Given the description of an element on the screen output the (x, y) to click on. 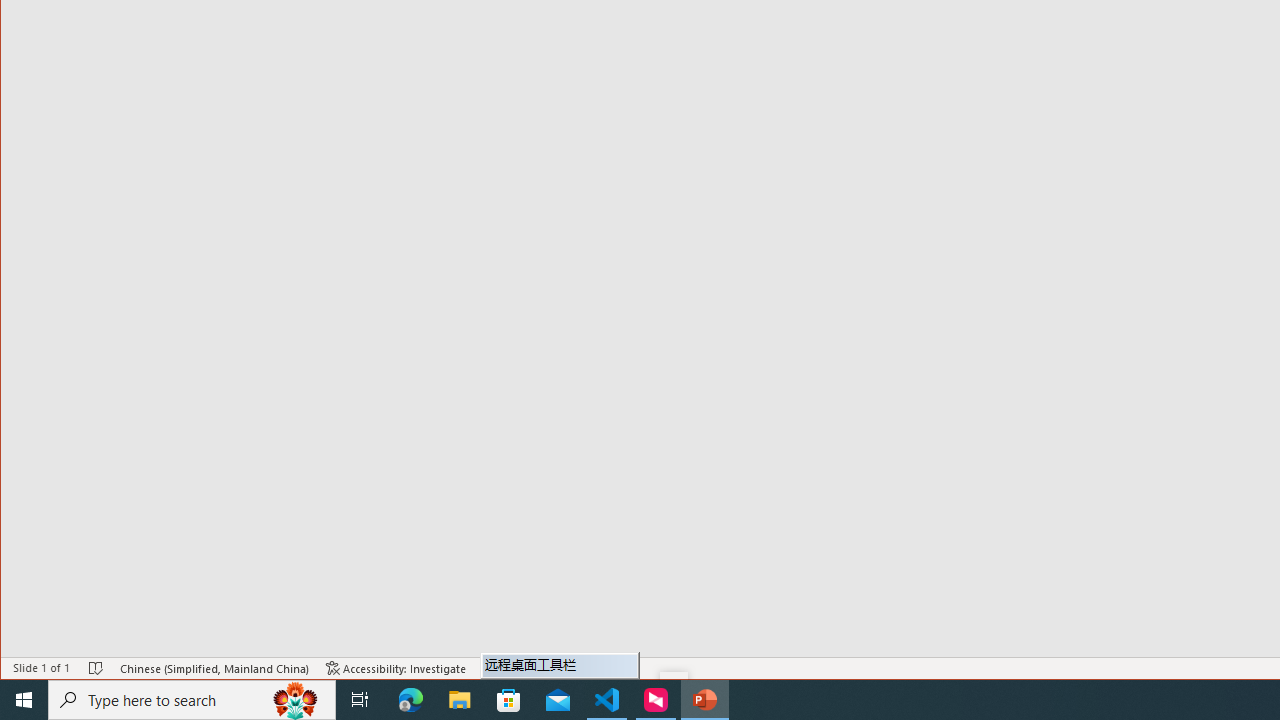
Task View (359, 699)
Start (24, 699)
Search highlights icon opens search home window (295, 699)
Visual Studio Code - 1 running window (607, 699)
Microsoft Store (509, 699)
Microsoft Edge (411, 699)
Type here to search (191, 699)
File Explorer (460, 699)
PowerPoint - 1 running window (704, 699)
Accessibility Checker Accessibility: Investigate (395, 668)
Spell Check No Errors (96, 668)
